Given the description of an element on the screen output the (x, y) to click on. 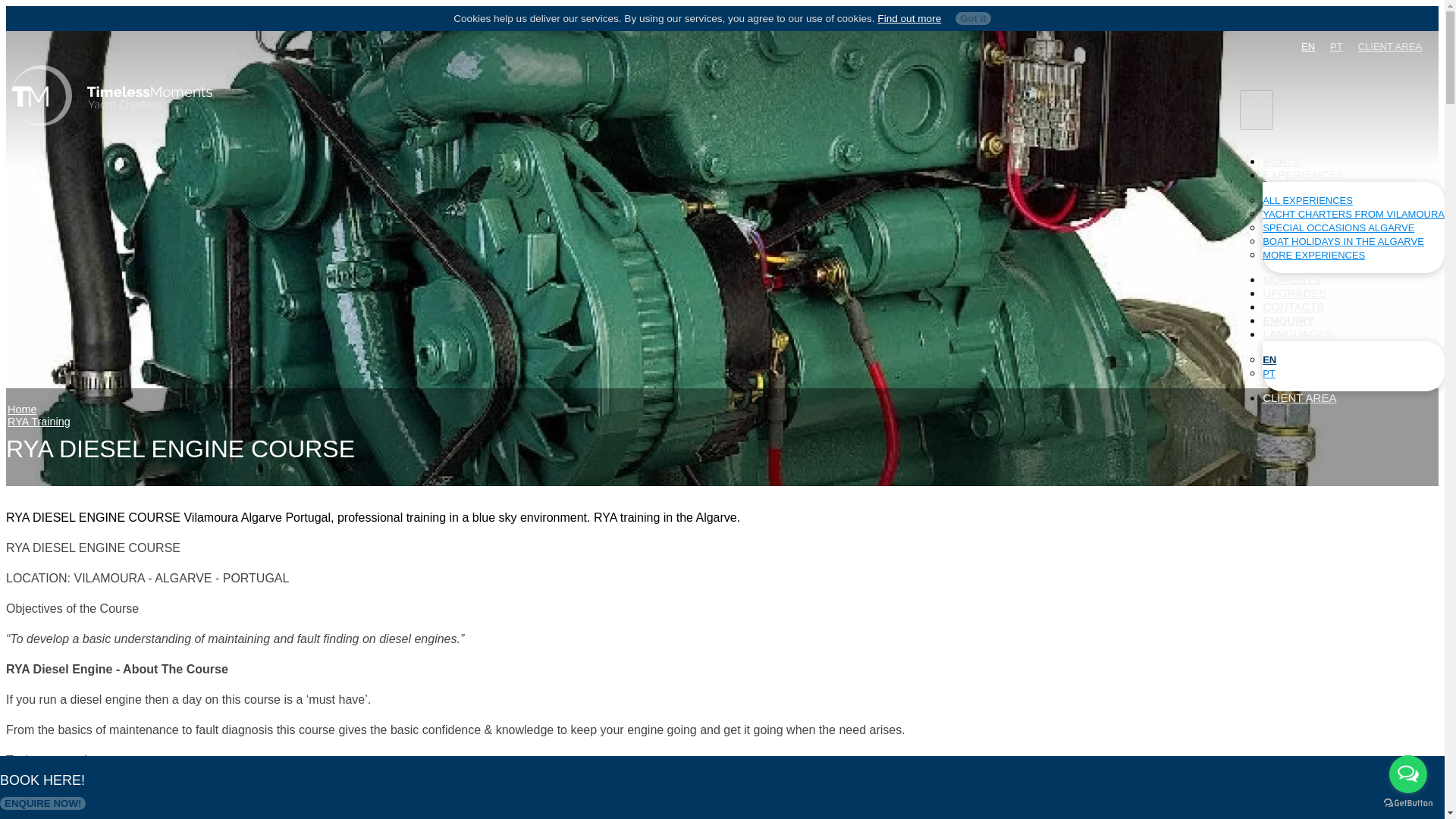
LANGUAGES (1297, 333)
RYA Training (38, 421)
CONTACTS (1292, 306)
BOATS (1281, 160)
MORE EXPERIENCES (1313, 255)
EN (1269, 359)
MOMENTS (1291, 278)
EXPERIENCES (1302, 174)
BOAT HOLIDAYS IN THE ALGARVE (1342, 241)
PT (1268, 373)
